Given the description of an element on the screen output the (x, y) to click on. 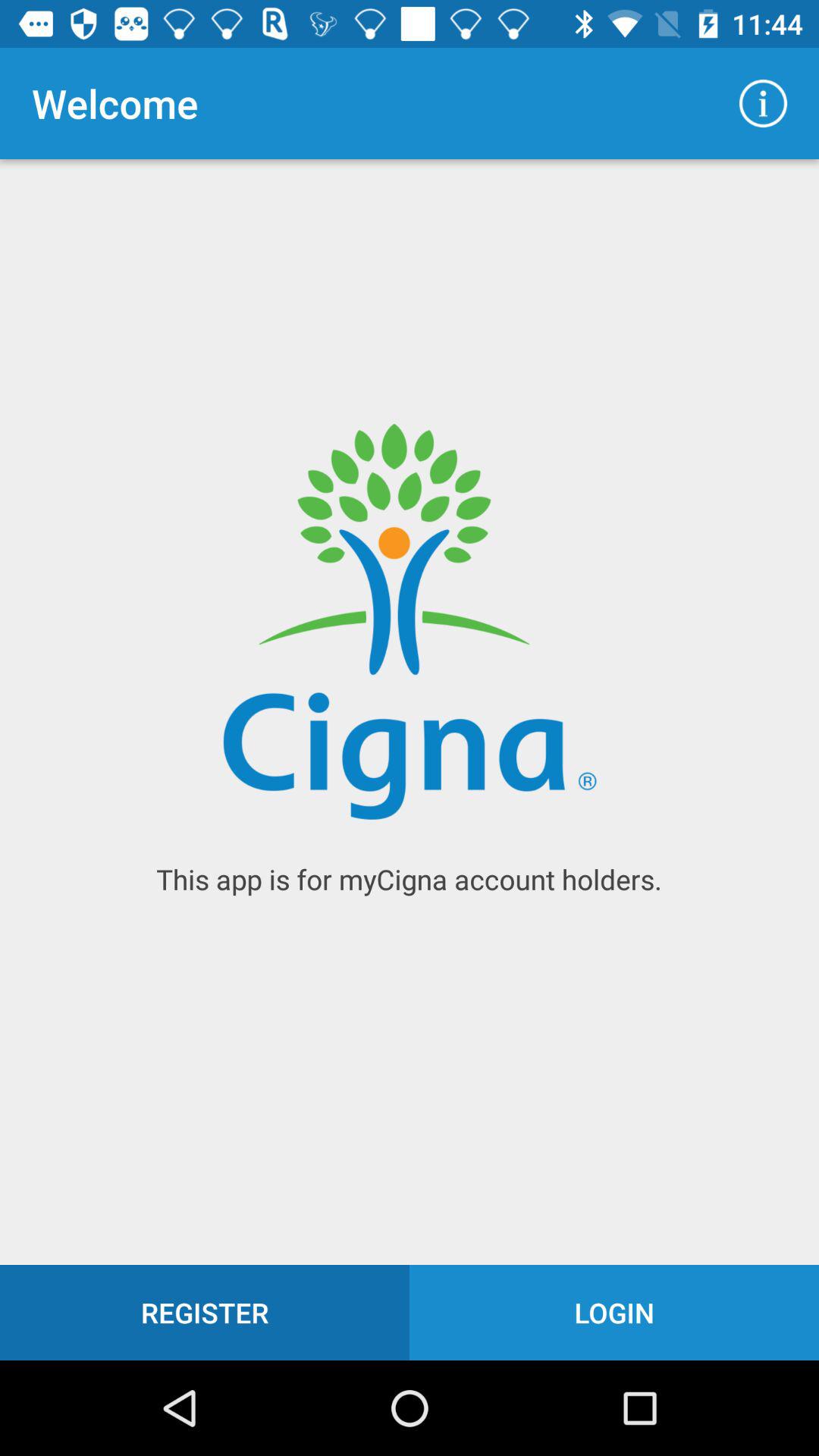
turn off login (614, 1312)
